Given the description of an element on the screen output the (x, y) to click on. 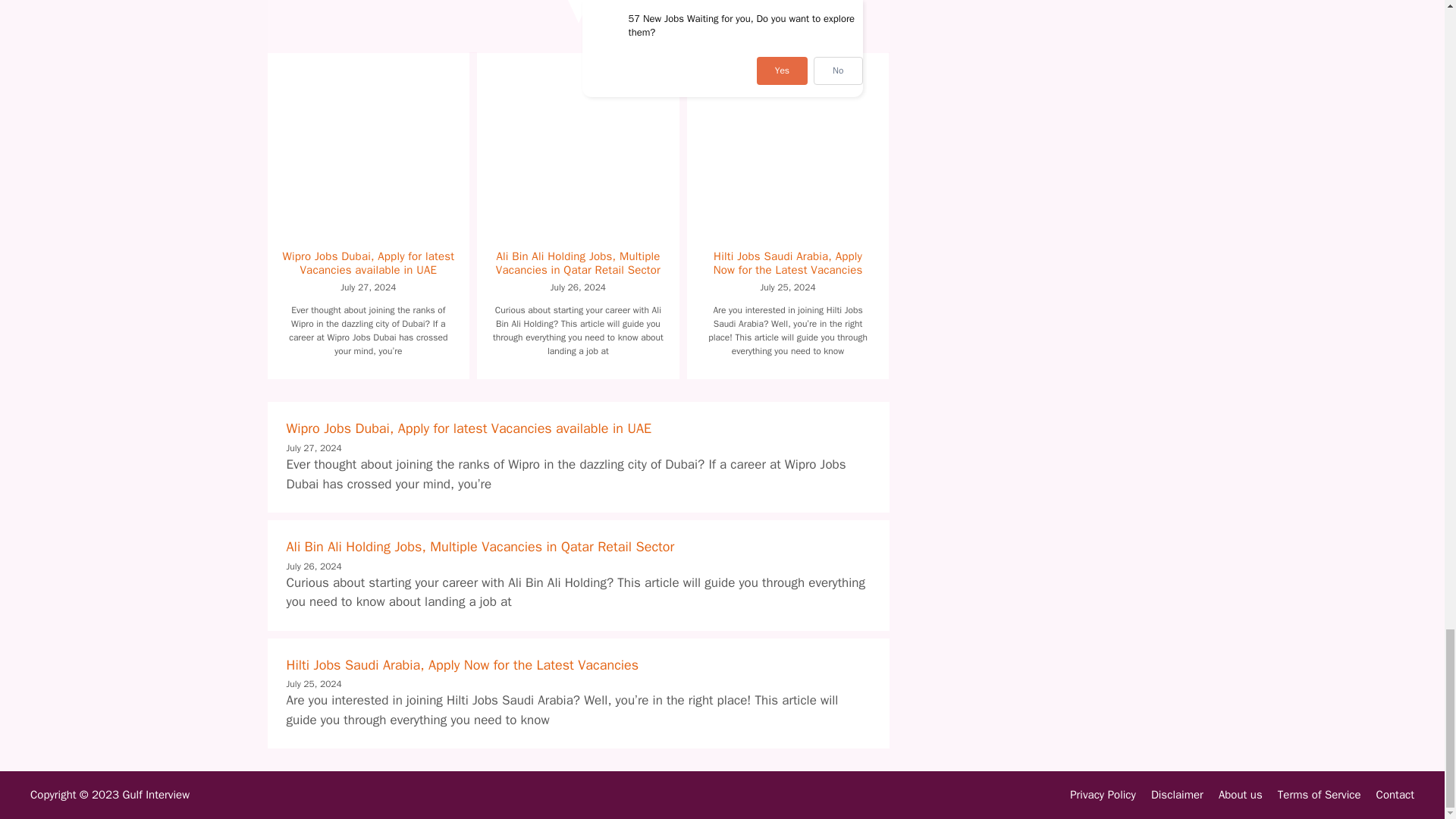
Hilti Jobs Saudi Arabia, Apply Now for the Latest Vacancies (788, 262)
Hilti Jobs Saudi Arabia, Apply Now for the Latest Vacancies (462, 664)
